Given the description of an element on the screen output the (x, y) to click on. 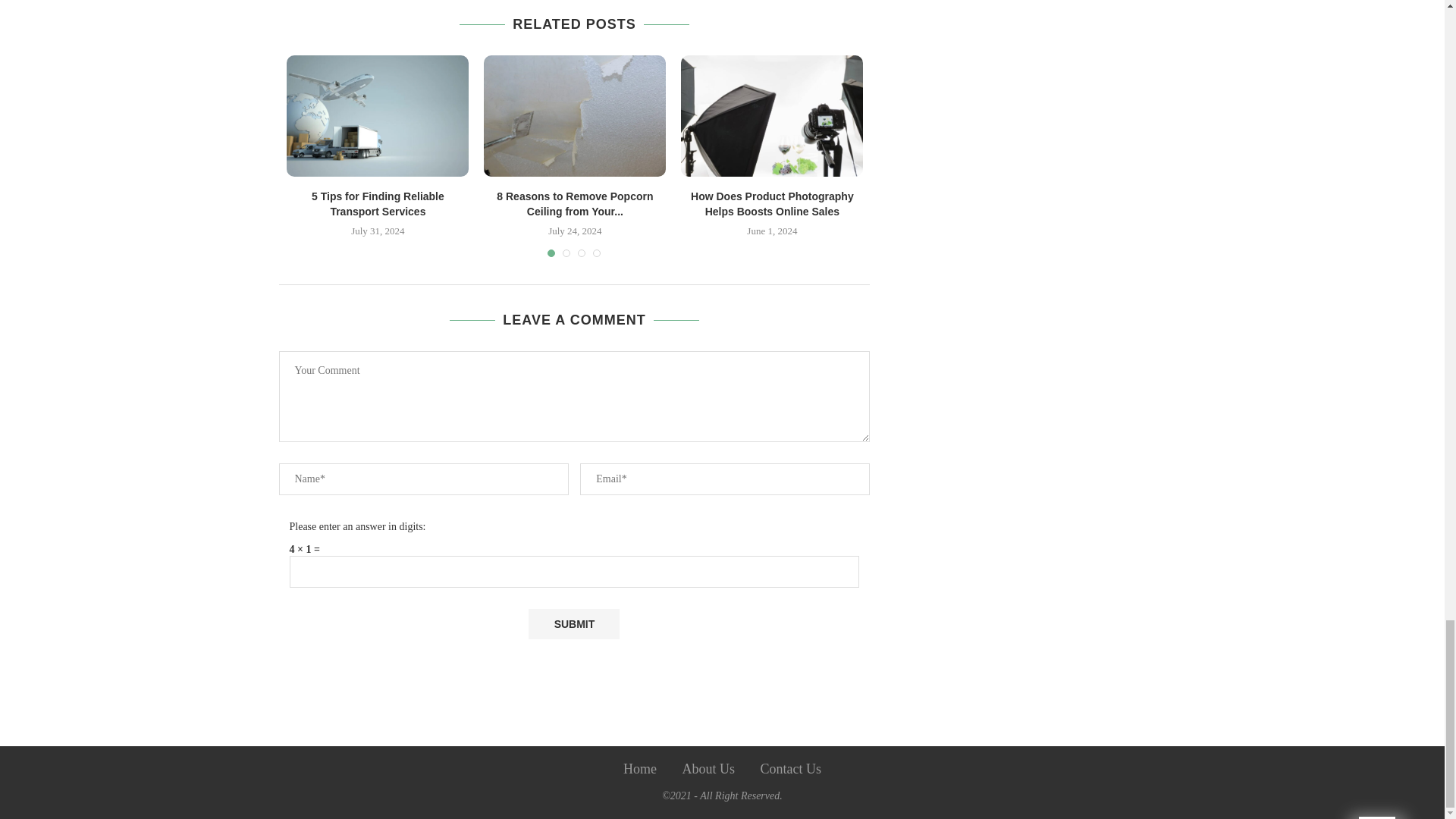
Submit (574, 624)
5 Tips for Finding Reliable Transport Services (377, 203)
5 Tips for Finding Reliable Transport Services (377, 115)
8 Reasons to Remove Popcorn Ceiling from Your Home (574, 115)
How Does Product Photography Helps Boosts Online Sales (772, 115)
